Given the description of an element on the screen output the (x, y) to click on. 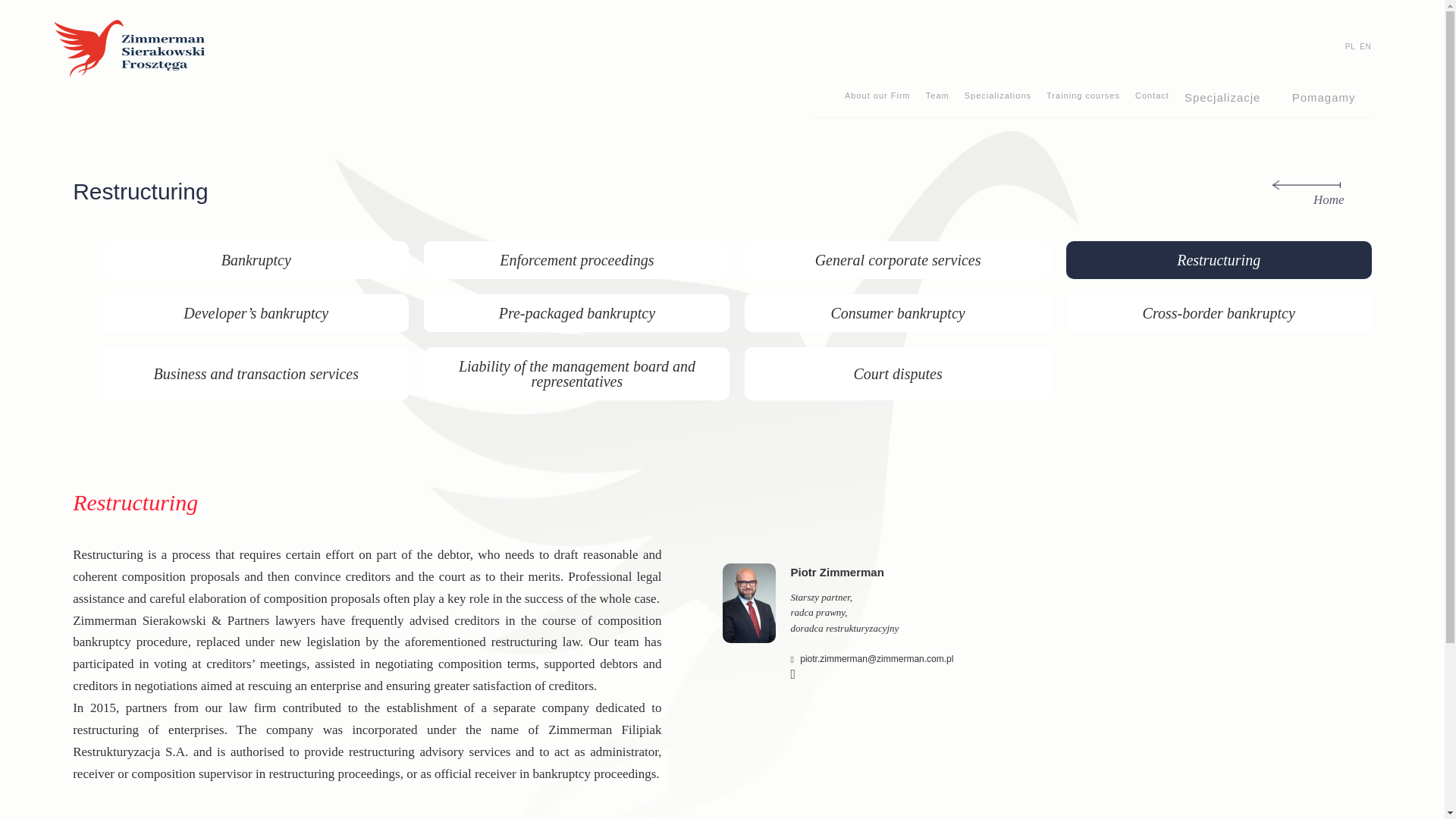
Business and transaction services (256, 373)
About our Firm (877, 96)
Cross-border bankruptcy (1218, 313)
Contact (1152, 96)
Home (1309, 193)
Team (937, 96)
Piotr Zimmerman (836, 575)
Consumer bankruptcy (897, 313)
Specializations (996, 96)
Court disputes (897, 373)
